Given the description of an element on the screen output the (x, y) to click on. 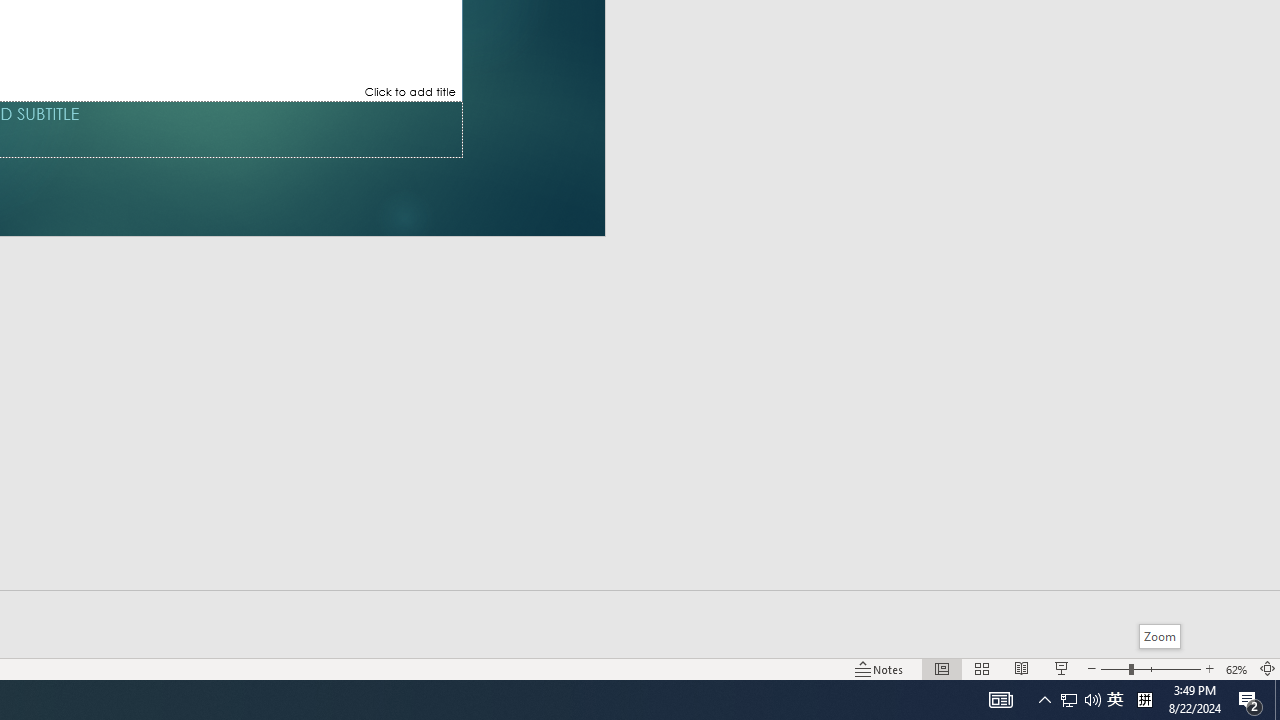
Zoom 62% (1236, 668)
